Given the description of an element on the screen output the (x, y) to click on. 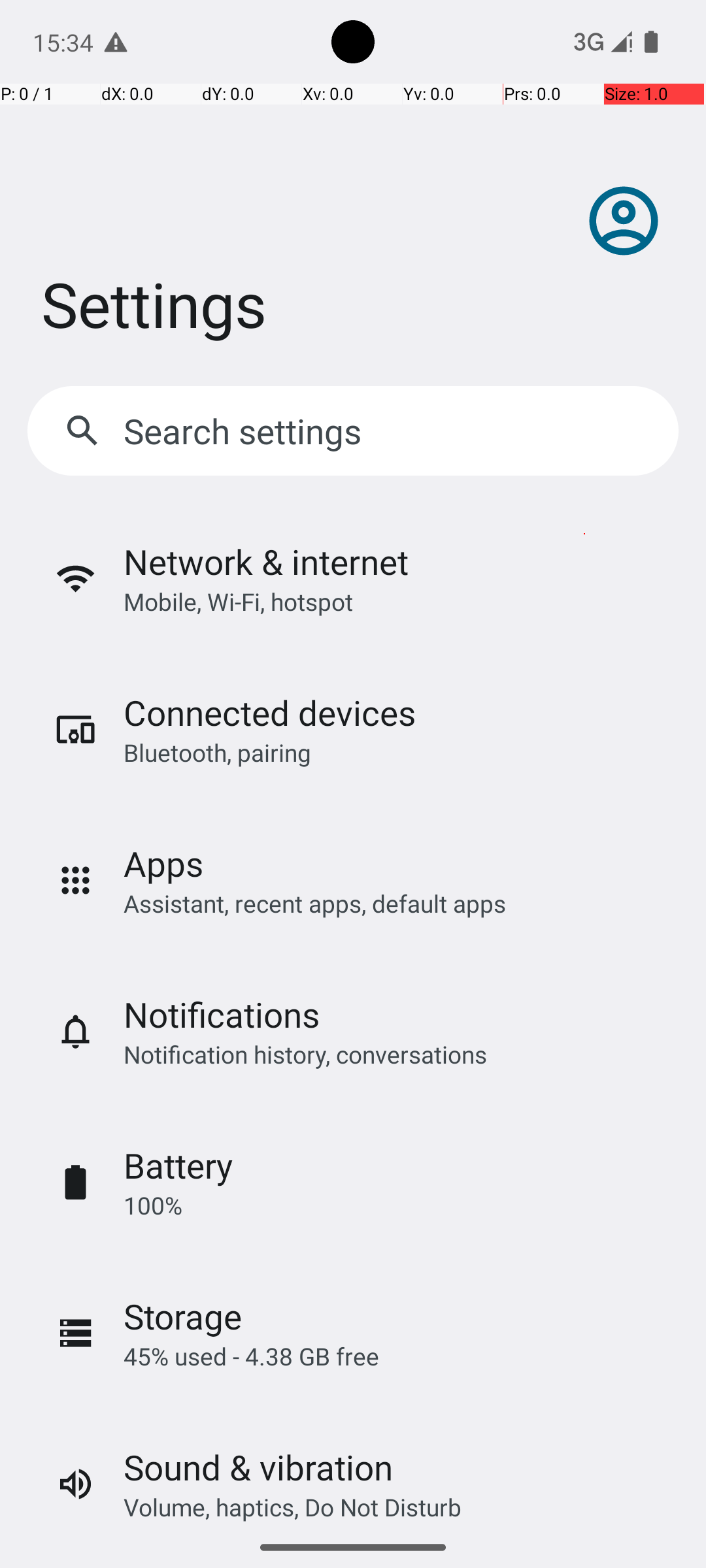
45% used - 4.38 GB free Element type: android.widget.TextView (251, 1355)
